Given the description of an element on the screen output the (x, y) to click on. 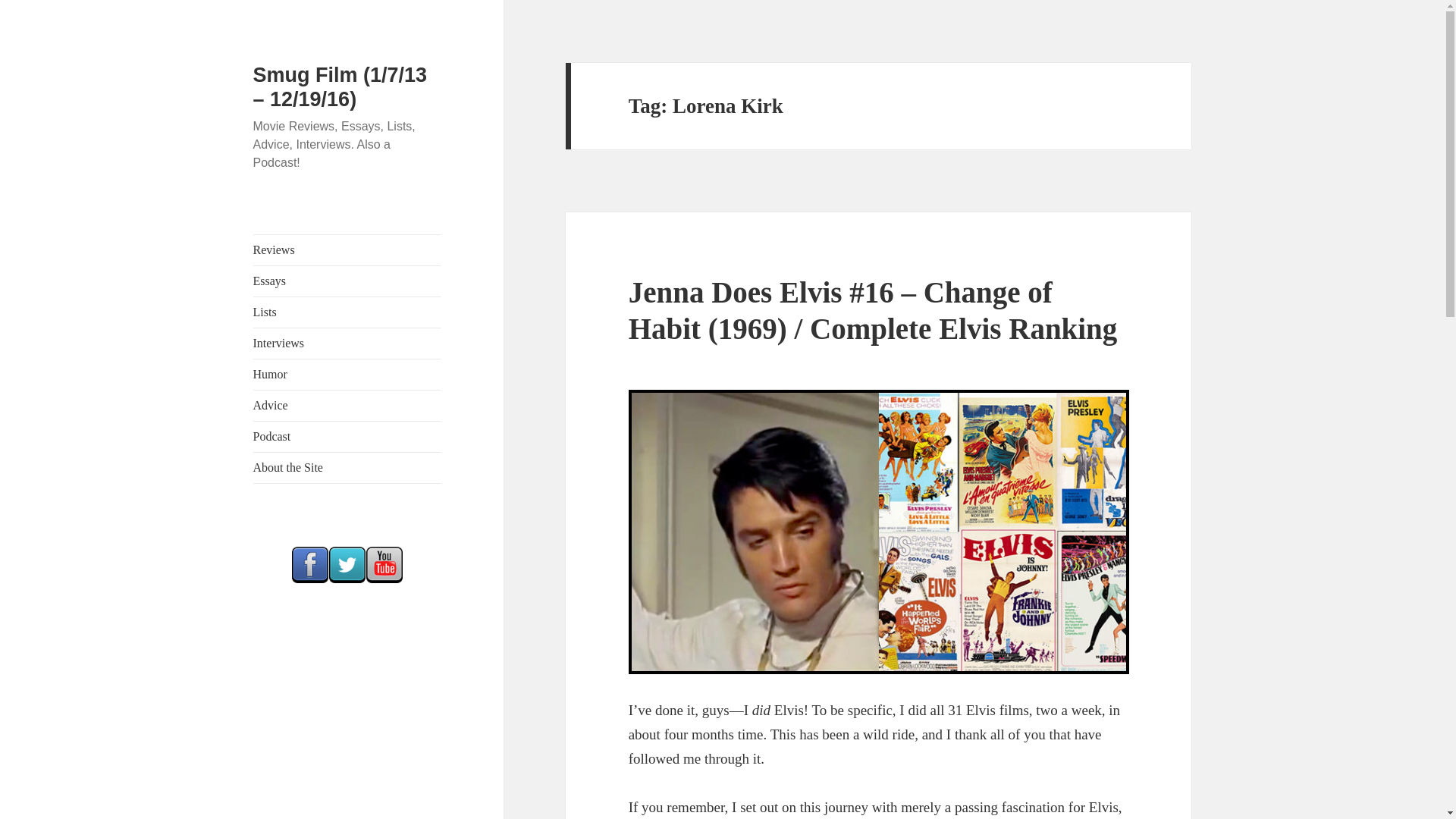
About the Site (347, 467)
Podcast (347, 436)
Visit Us On Youtube (384, 562)
Visit Us On Twitter (347, 562)
Essays (347, 281)
Humor (347, 374)
Visit Us On Facebook (310, 562)
Reviews (347, 250)
Lists (347, 312)
Interviews (347, 343)
